Given the description of an element on the screen output the (x, y) to click on. 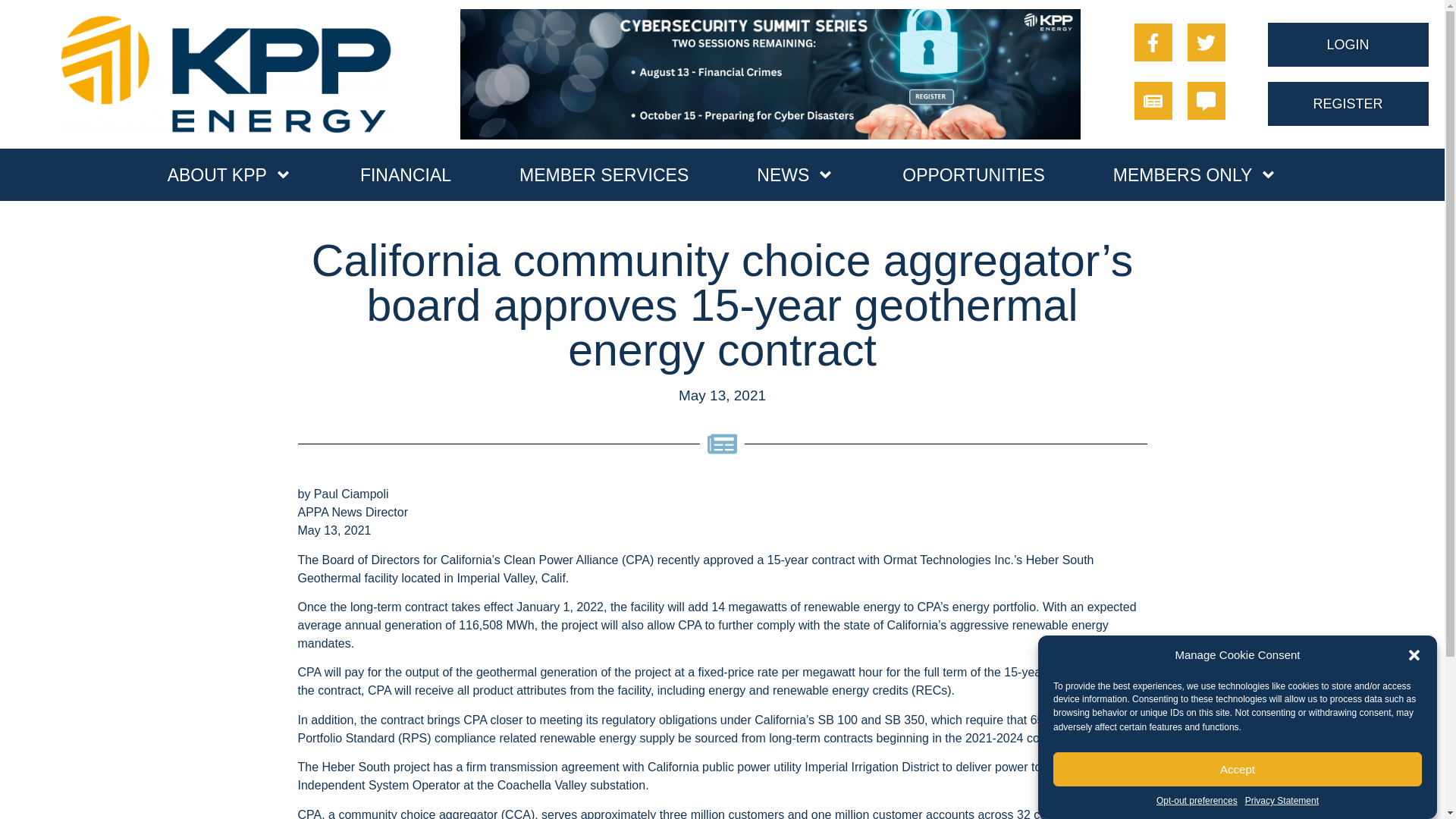
REGISTER (1348, 103)
LOGIN (1348, 44)
NEWS (794, 174)
OPPORTUNITIES (972, 174)
MEMBERS ONLY (1194, 174)
ABOUT KPP (229, 174)
MEMBER SERVICES (603, 174)
FINANCIAL (405, 174)
